Given the description of an element on the screen output the (x, y) to click on. 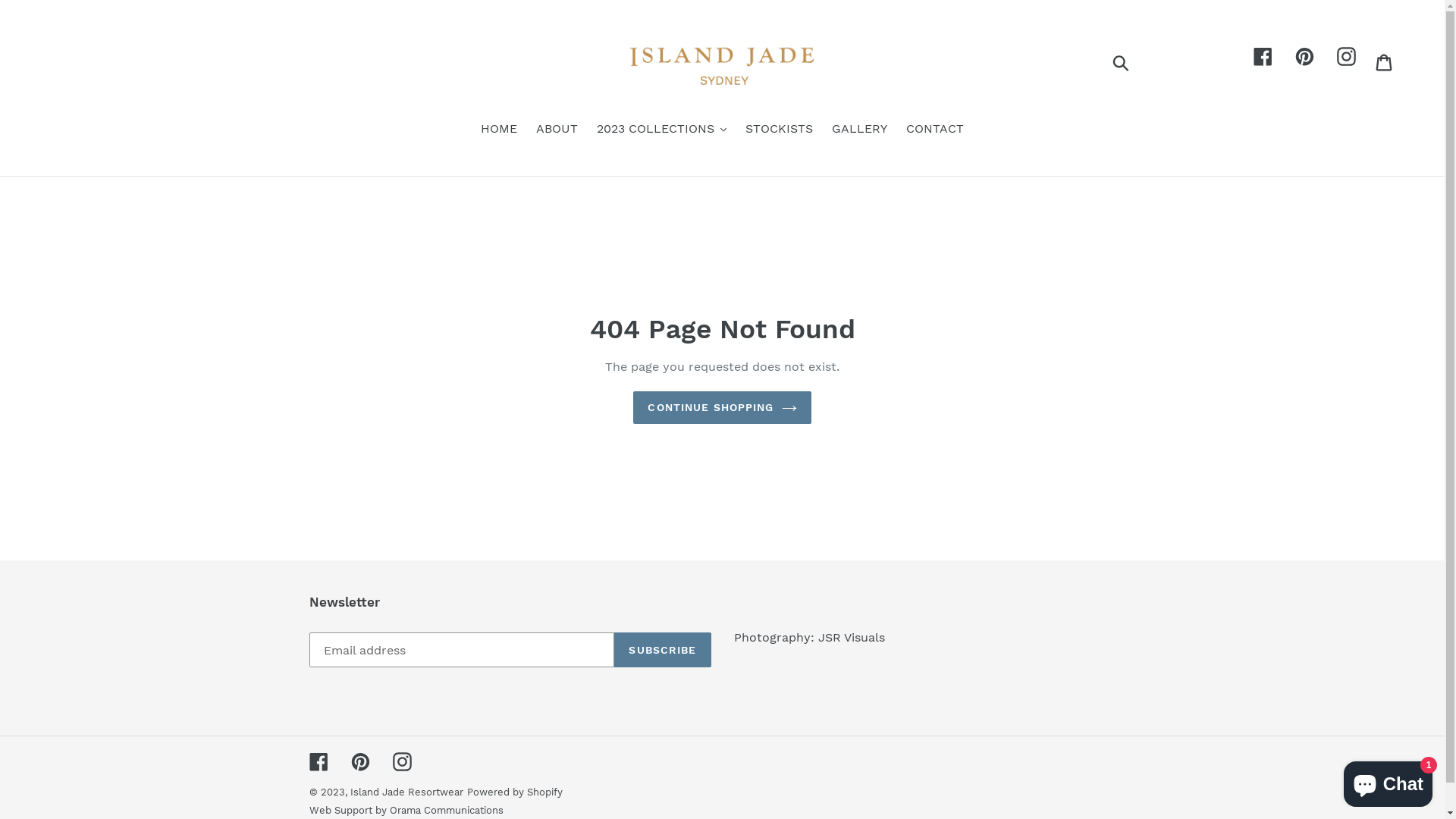
Facebook Element type: text (1262, 55)
Instagram Element type: text (401, 761)
GALLERY Element type: text (859, 129)
Pinterest Element type: text (1304, 55)
Cart Element type: text (1384, 61)
Powered by Shopify Element type: text (514, 791)
Shopify online store chat Element type: hover (1388, 780)
Island Jade Resortwear Element type: text (406, 791)
Pinterest Element type: text (359, 761)
CONTINUE SHOPPING Element type: text (721, 407)
STOCKISTS Element type: text (778, 129)
SUBSCRIBE Element type: text (662, 649)
Photography: JSR Visuals Element type: text (809, 637)
CONTACT Element type: text (934, 129)
ABOUT Element type: text (556, 129)
Submit Element type: text (1121, 61)
Instagram Element type: text (1345, 55)
HOME Element type: text (498, 129)
Facebook Element type: text (318, 761)
Orama Communications Element type: text (446, 809)
